Given the description of an element on the screen output the (x, y) to click on. 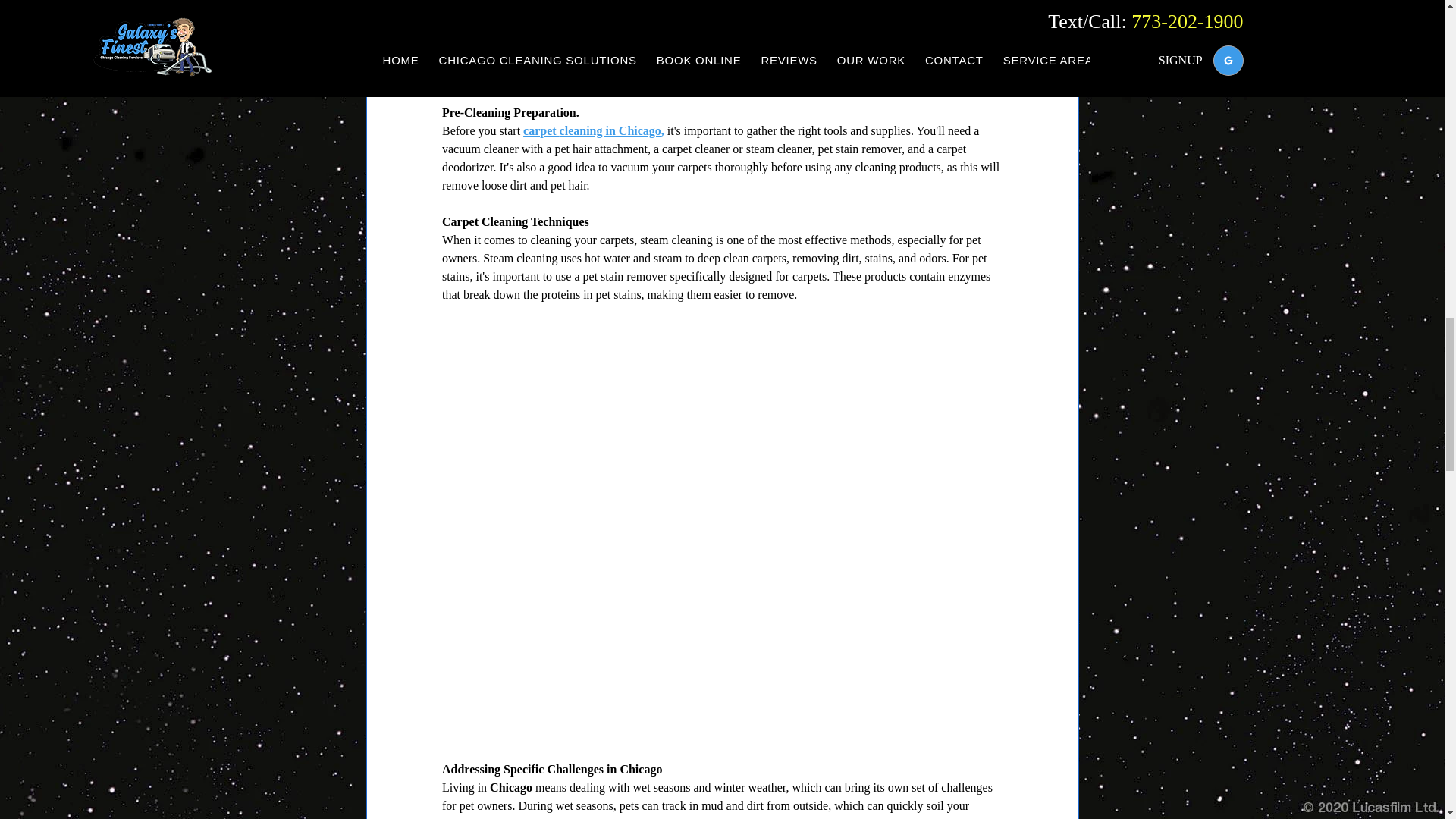
cleaning in Chicago (610, 130)
carpet  (540, 130)
